Given the description of an element on the screen output the (x, y) to click on. 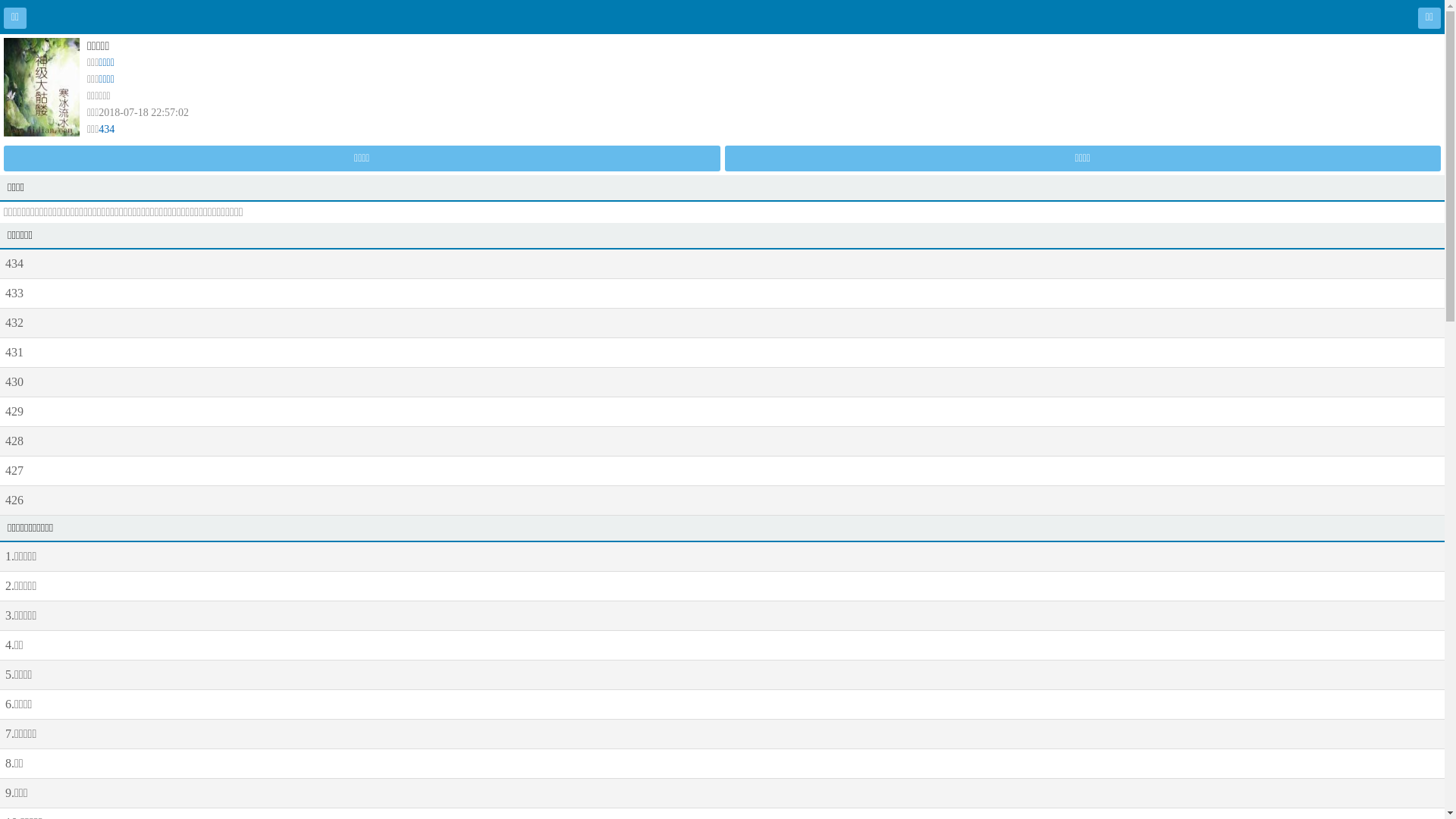
434 Element type: text (722, 263)
427 Element type: text (722, 470)
432 Element type: text (722, 322)
429 Element type: text (722, 411)
434 Element type: text (106, 128)
433 Element type: text (722, 293)
430 Element type: text (722, 381)
426 Element type: text (722, 500)
431 Element type: text (722, 352)
428 Element type: text (722, 440)
